Given the description of an element on the screen output the (x, y) to click on. 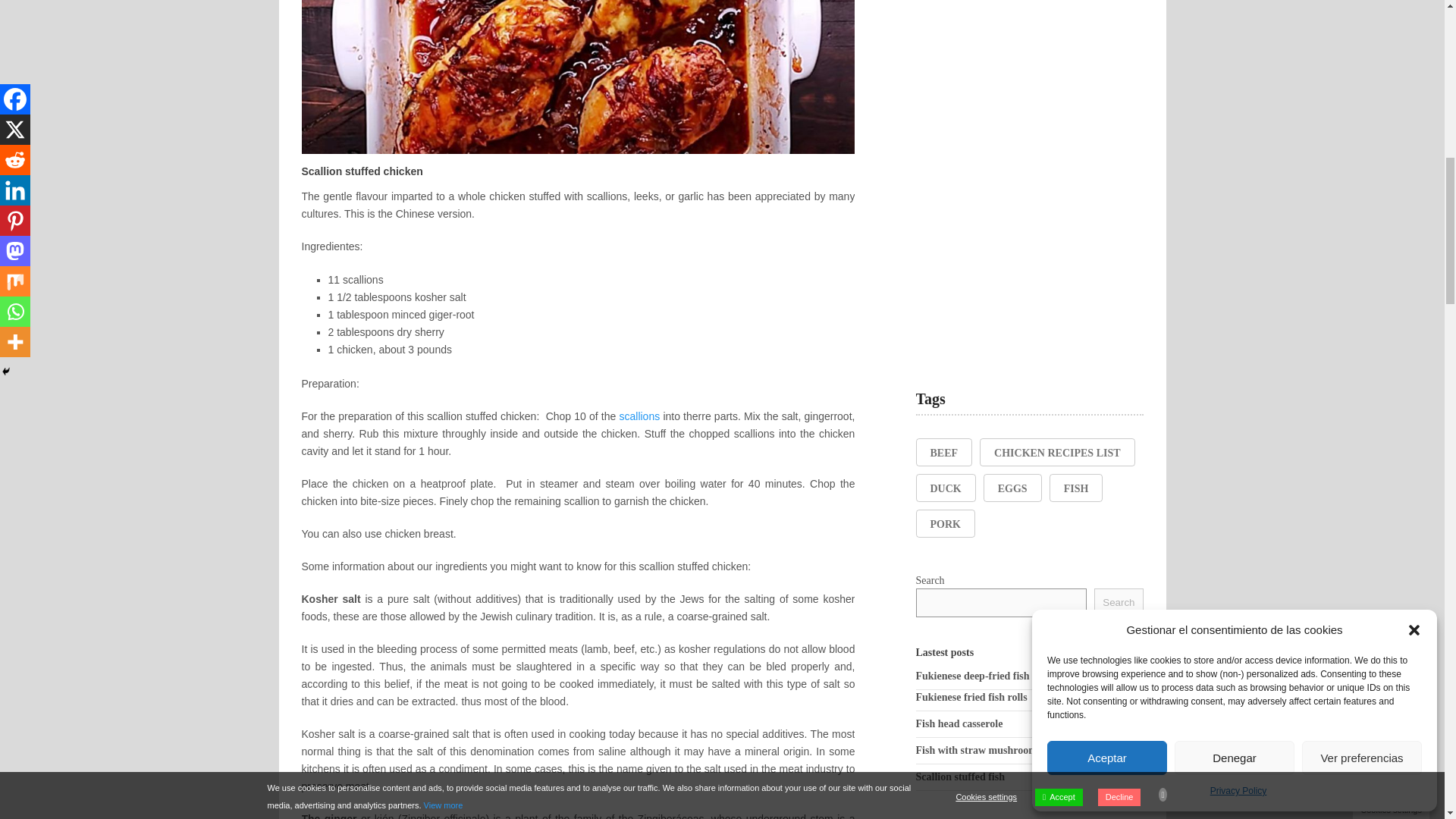
scallions (638, 416)
